Given the description of an element on the screen output the (x, y) to click on. 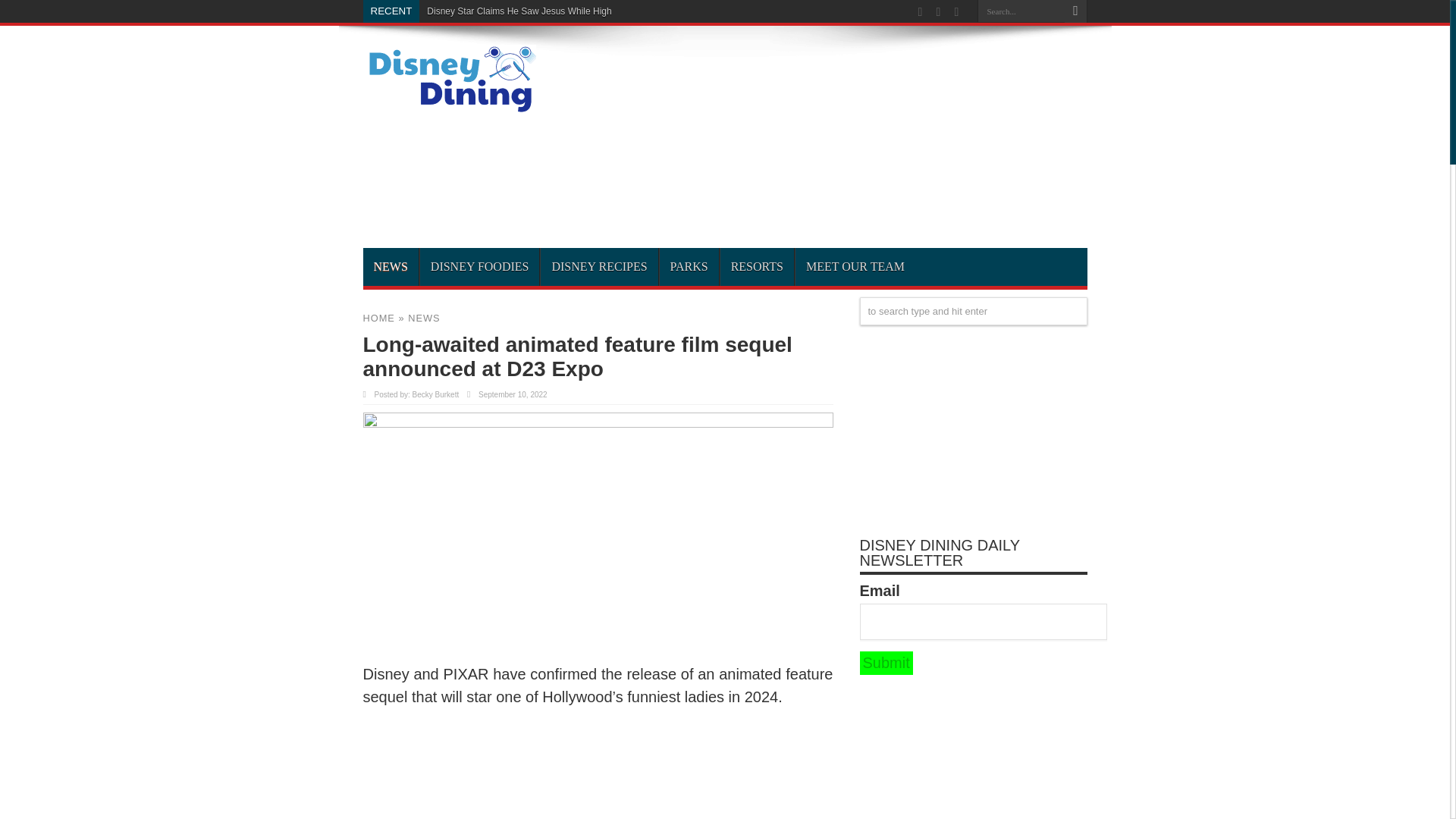
NEWS (423, 317)
DISNEY FOODIES (479, 266)
Disney Dining (448, 107)
to search type and hit enter (973, 311)
PARKS (689, 266)
Becky Burkett (436, 394)
Disney Star Claims He Saw Jesus While High (518, 11)
RESORTS (756, 266)
Search (1075, 11)
HOME (378, 317)
